Given the description of an element on the screen output the (x, y) to click on. 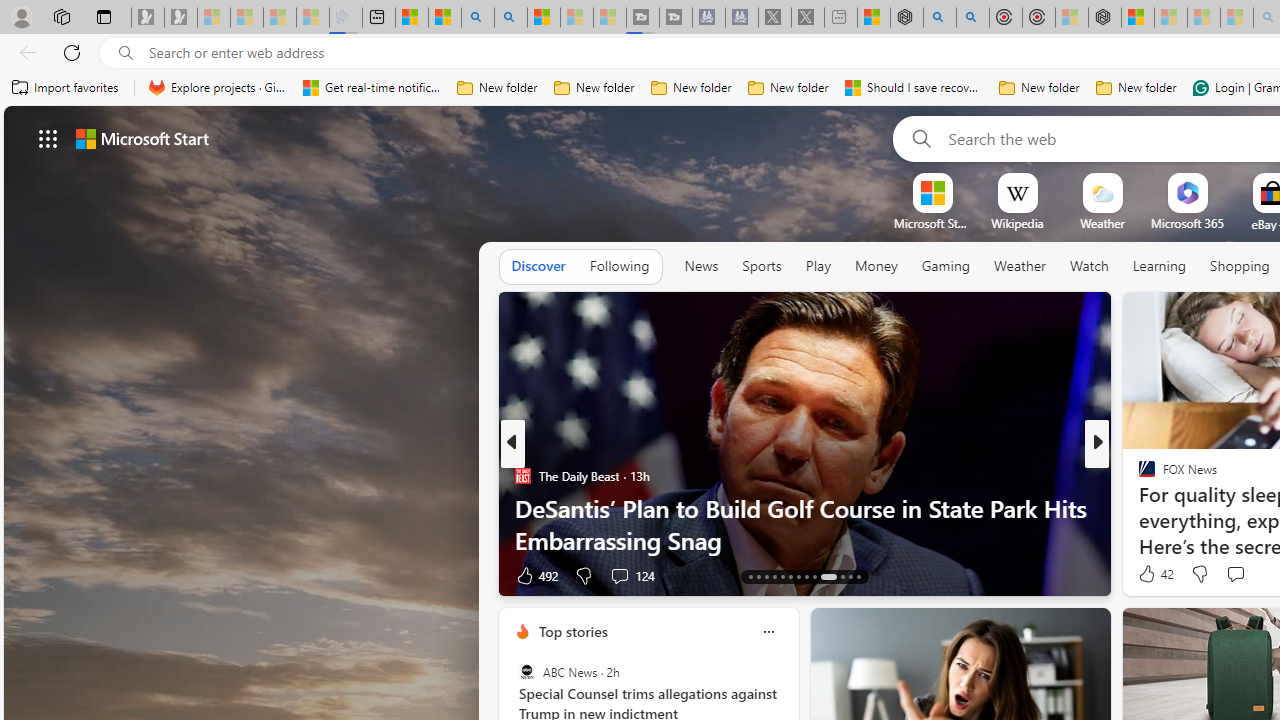
AutomationID: tab-16 (774, 576)
Money (875, 265)
The Wall Street Journal (1138, 507)
Learning (1159, 267)
AutomationID: tab-24 (850, 576)
Play (817, 265)
Search icon (125, 53)
AutomationID: tab-22 (827, 576)
poe ++ standard - Search (973, 17)
View comments 124 Comment (619, 575)
AutomationID: tab-13 (750, 576)
X - Sleeping (808, 17)
Play (818, 267)
BRAINY DOSE (1138, 475)
